Given the description of an element on the screen output the (x, y) to click on. 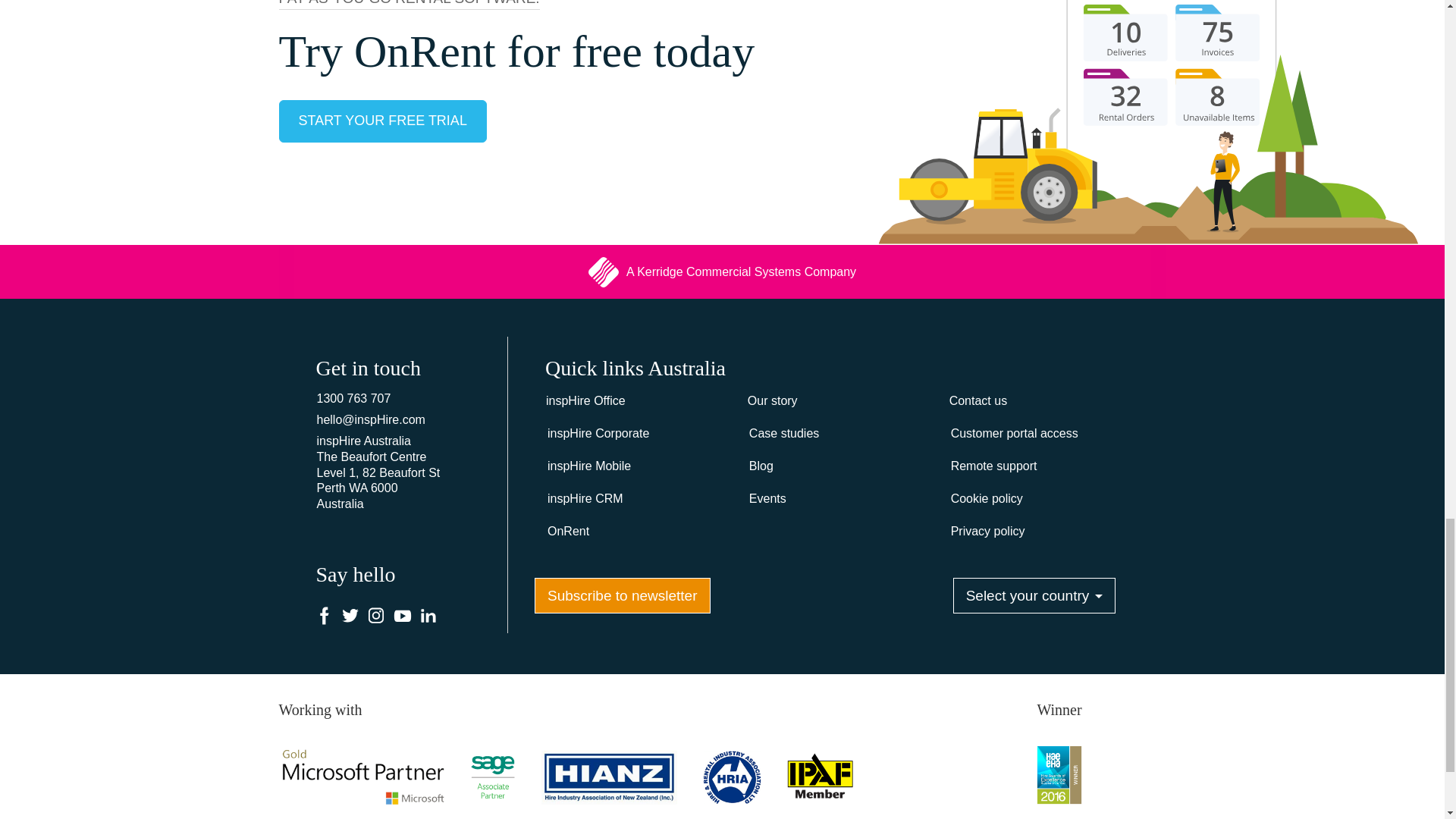
Remote support (1039, 466)
inspHire CRM (635, 499)
Subscribe to newsletter (622, 595)
Case studies (837, 433)
Customer portal access (1039, 433)
inspHire Office (635, 400)
Contact us (1038, 400)
A Kerridge Commercial Systems Company (721, 272)
OnRent (635, 531)
Follow Us on Linkedin (427, 617)
Follow Us on Instagram (376, 617)
Our story (836, 400)
inspHire Mobile (635, 466)
Follow Us on Twitter (350, 617)
Blog (837, 466)
